Given the description of an element on the screen output the (x, y) to click on. 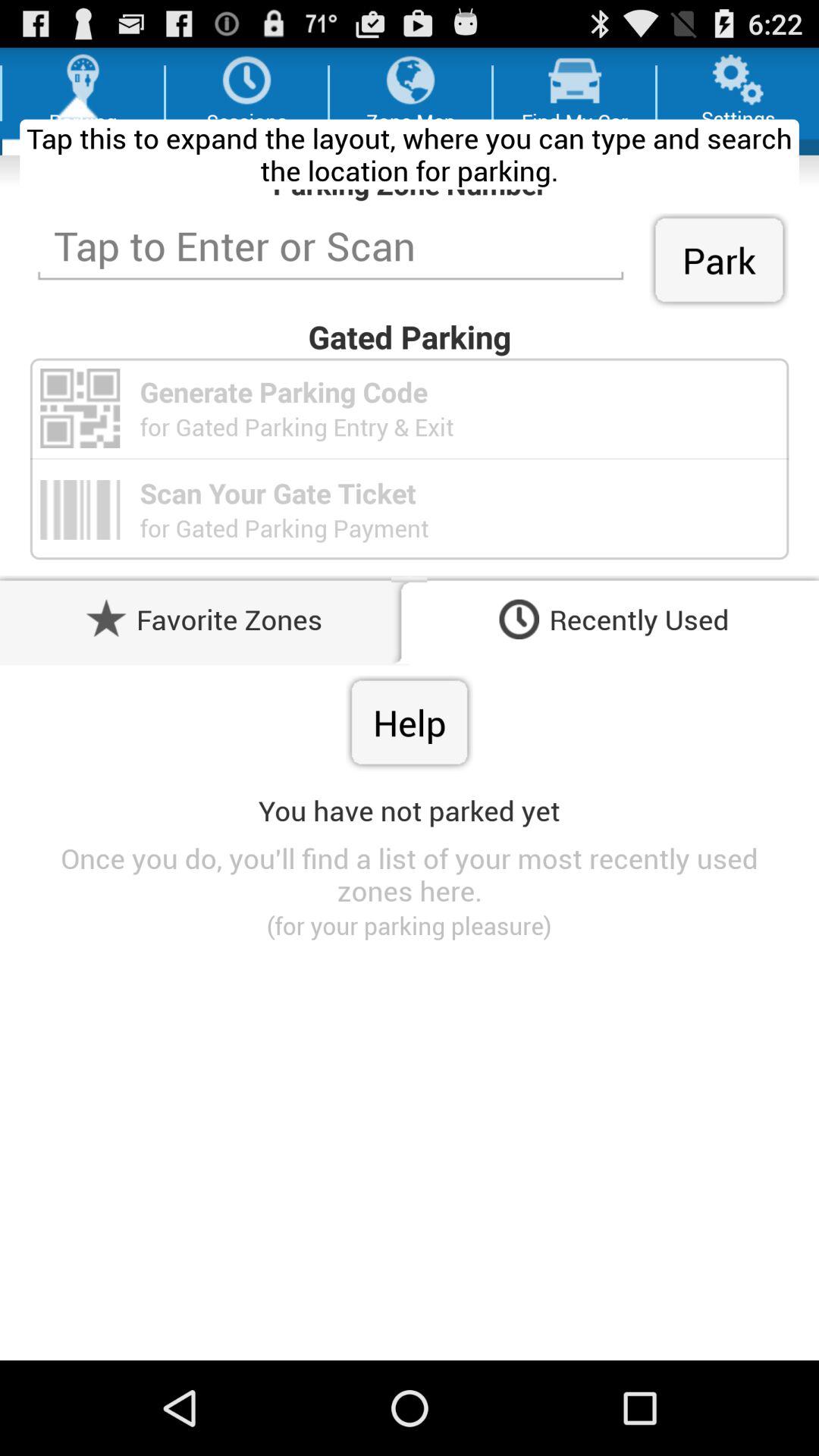
click on the button beside favorite zones (106, 619)
click on the third icon from left (410, 79)
click on the second icon from left (246, 79)
